Given the description of an element on the screen output the (x, y) to click on. 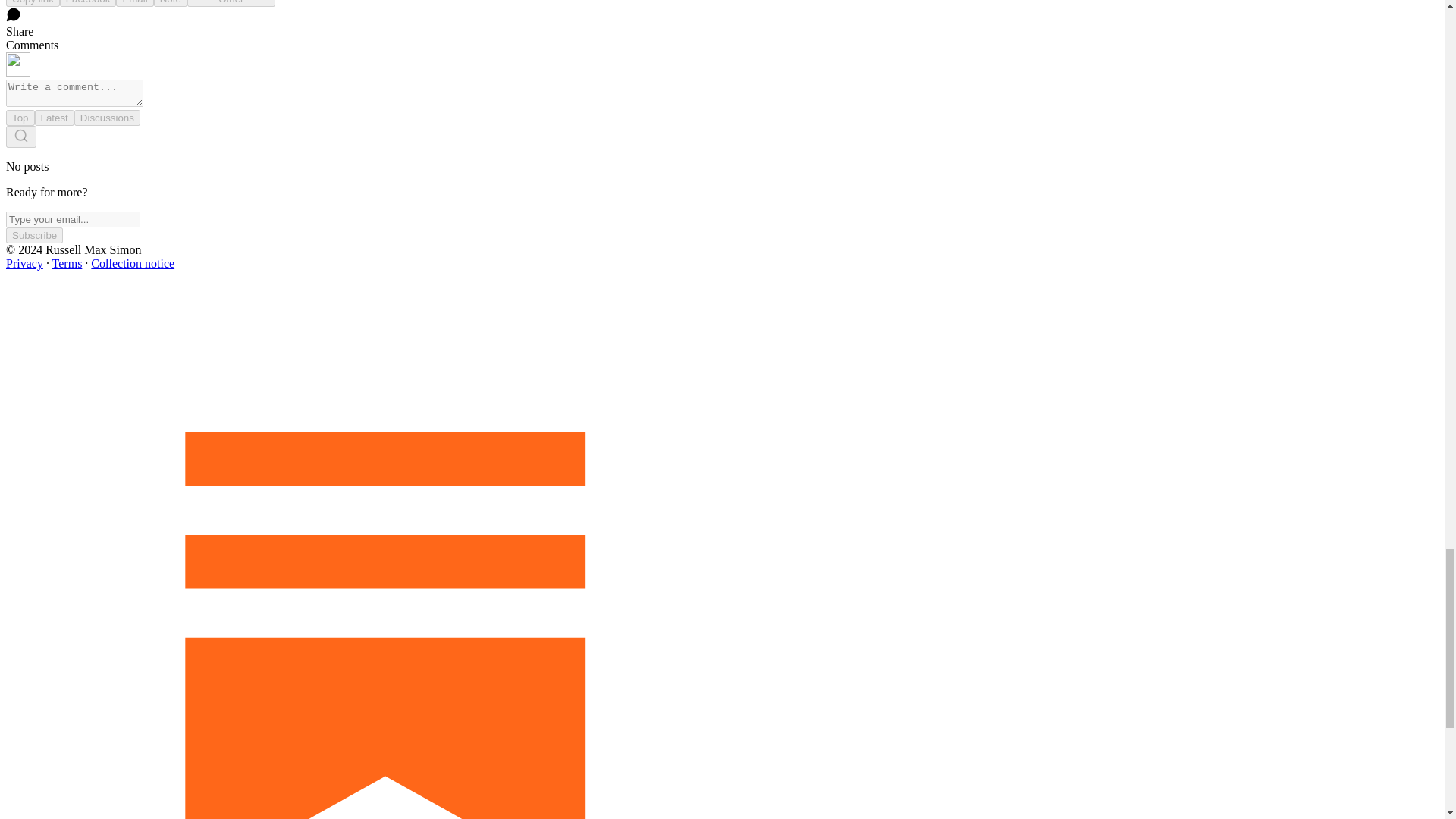
Copy link (32, 3)
Email (134, 3)
Facebook (87, 3)
